Given the description of an element on the screen output the (x, y) to click on. 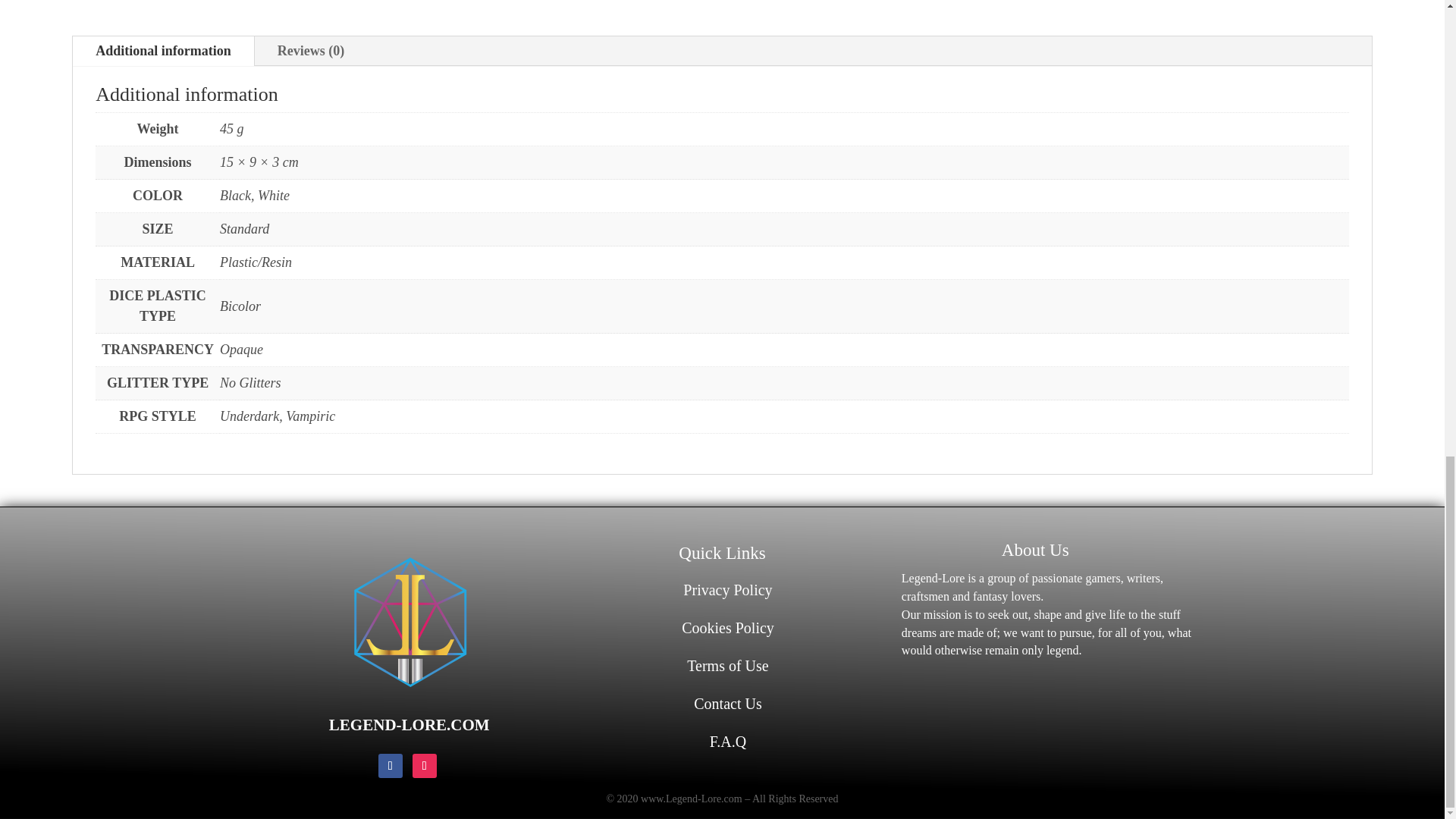
Follow on Instagram (424, 765)
Follow on Facebook (390, 765)
Legend Lore Logo (409, 623)
